Given the description of an element on the screen output the (x, y) to click on. 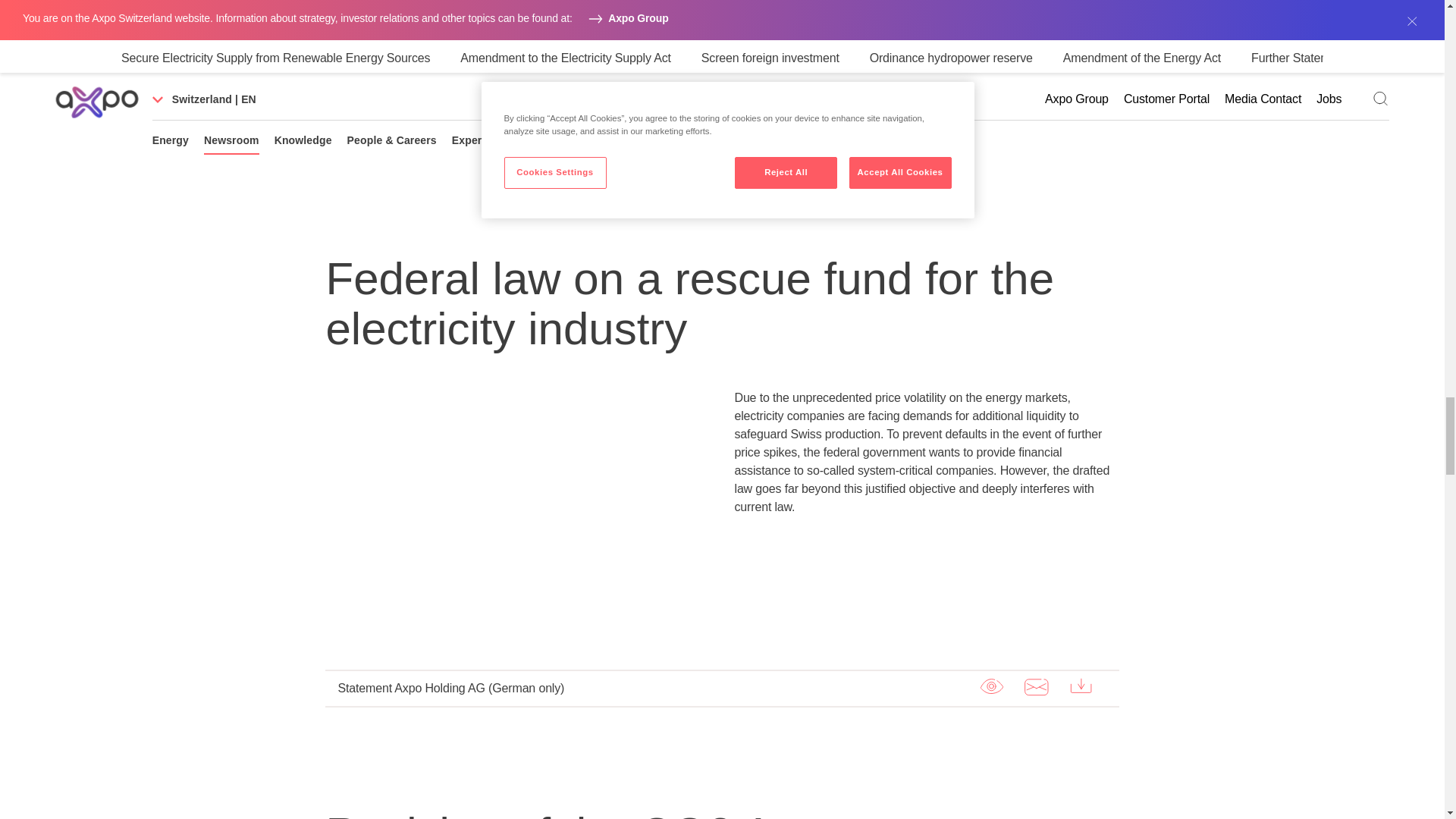
Send email (1036, 686)
Send email (1036, 30)
